Given the description of an element on the screen output the (x, y) to click on. 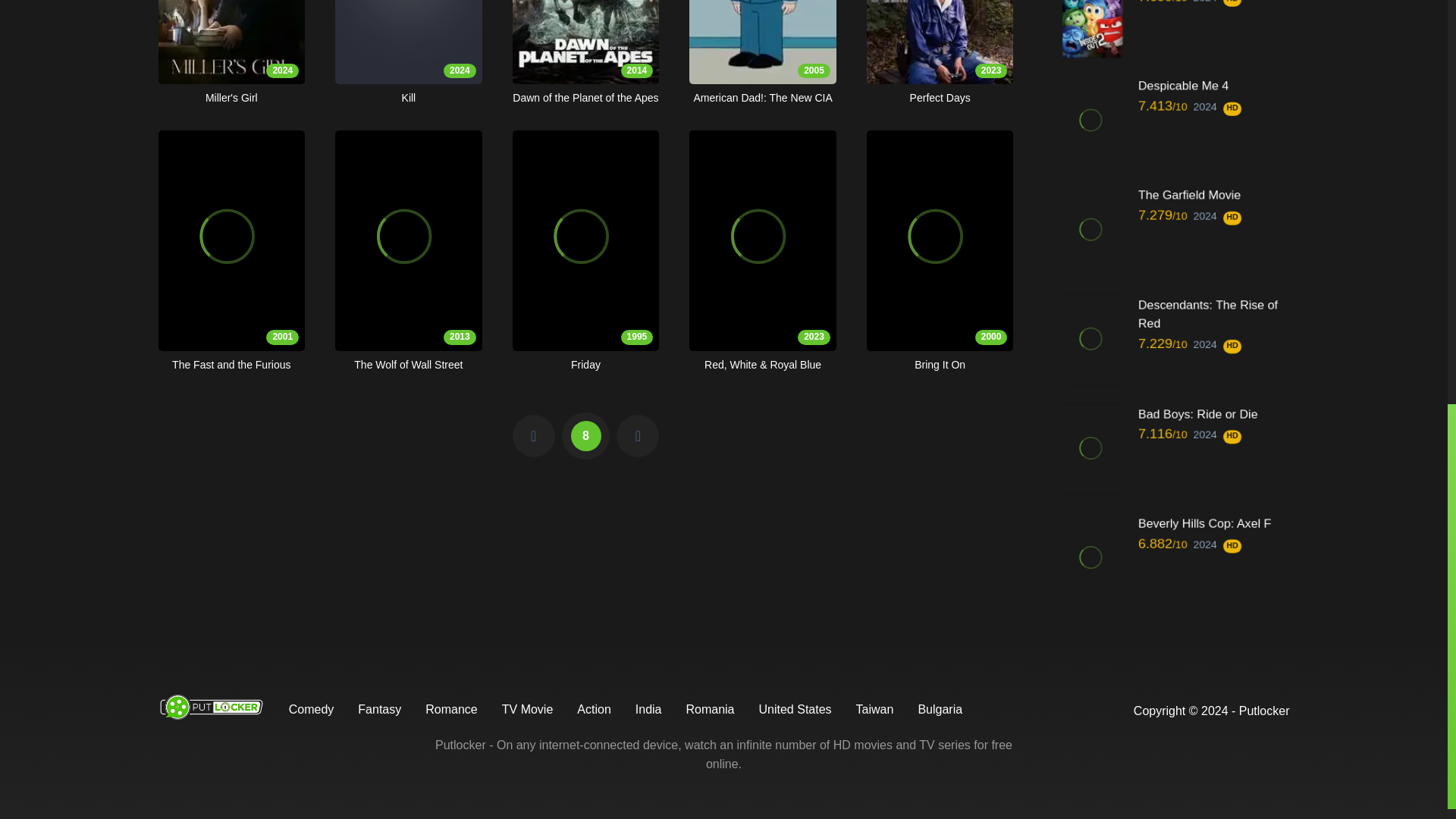
8 (230, 53)
